Given the description of an element on the screen output the (x, y) to click on. 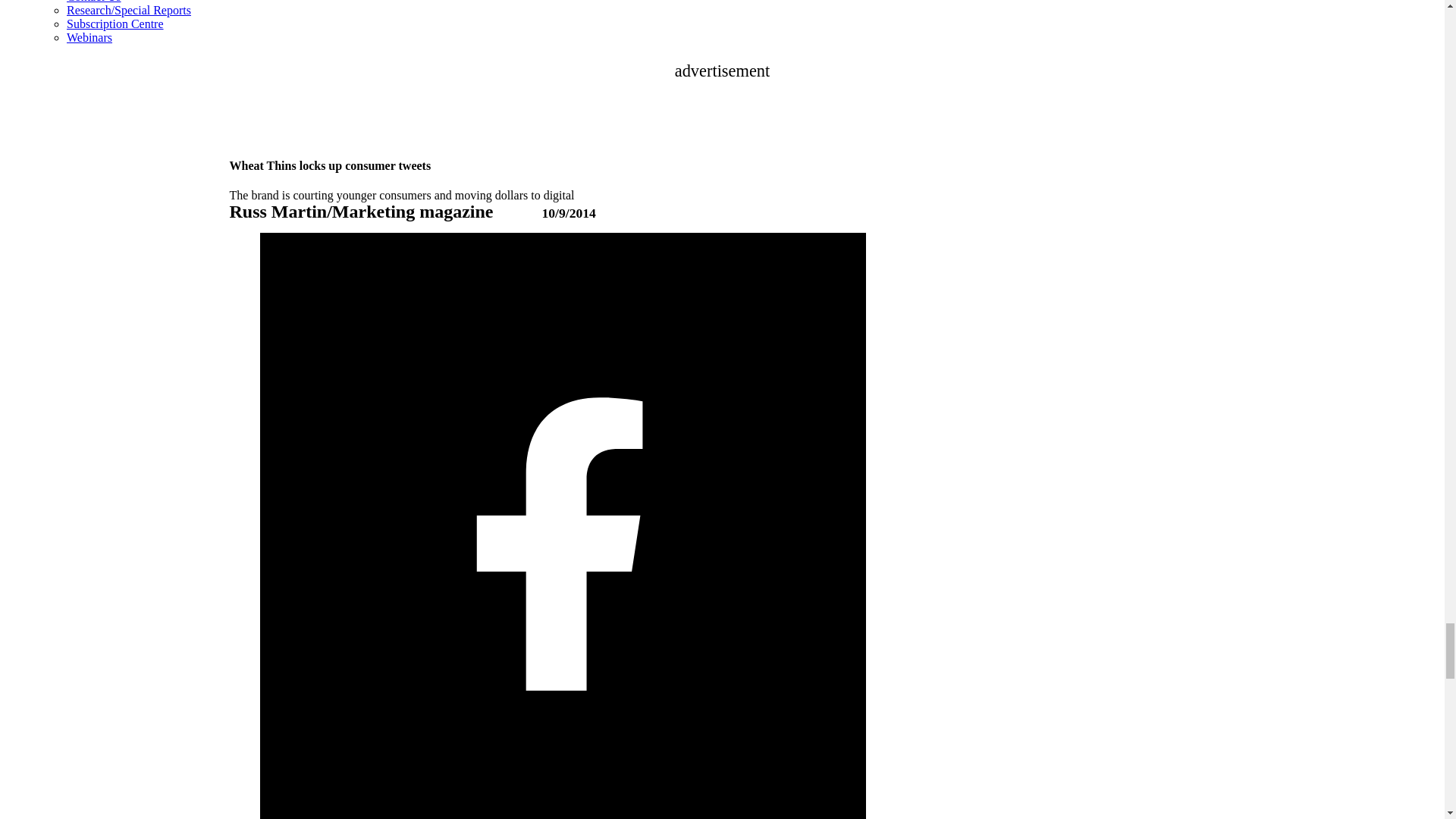
Contact Us (93, 1)
Webinars (89, 37)
Subscription Centre (114, 23)
